Given the description of an element on the screen output the (x, y) to click on. 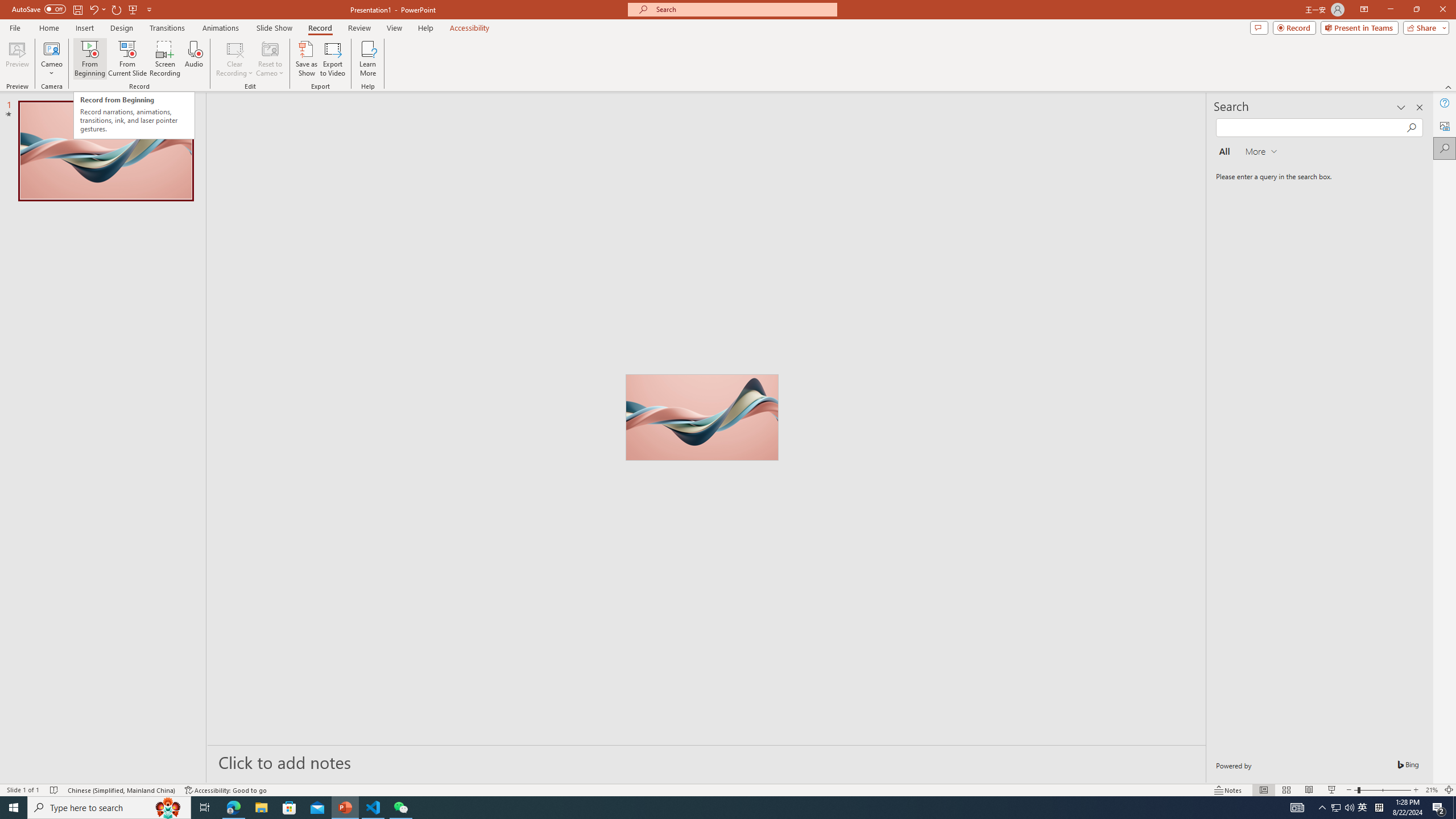
Save as Show (306, 58)
Wavy 3D art (701, 417)
Export to Video (332, 58)
